Given the description of an element on the screen output the (x, y) to click on. 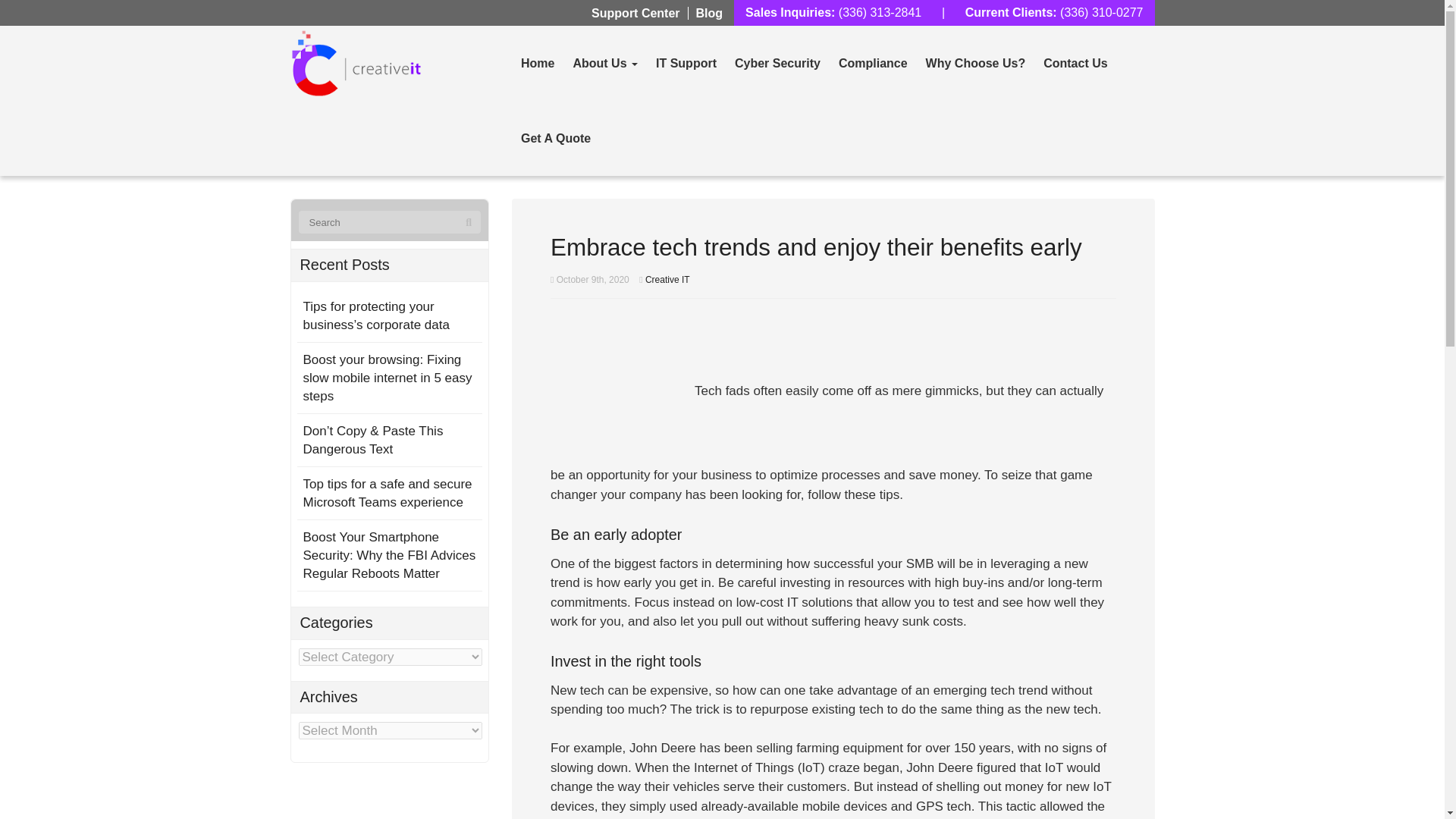
Why Choose Us? (976, 63)
Compliance (873, 63)
Blog (709, 11)
Get A Quote (555, 138)
Creative IT (667, 279)
Support Center (635, 11)
About Us (604, 63)
IT Support (685, 63)
Posts by Creative IT (667, 279)
Cyber Security (777, 63)
Contact Us (1074, 63)
Search (468, 222)
Top tips for a safe and secure Microsoft Teams experience (386, 492)
